Given the description of an element on the screen output the (x, y) to click on. 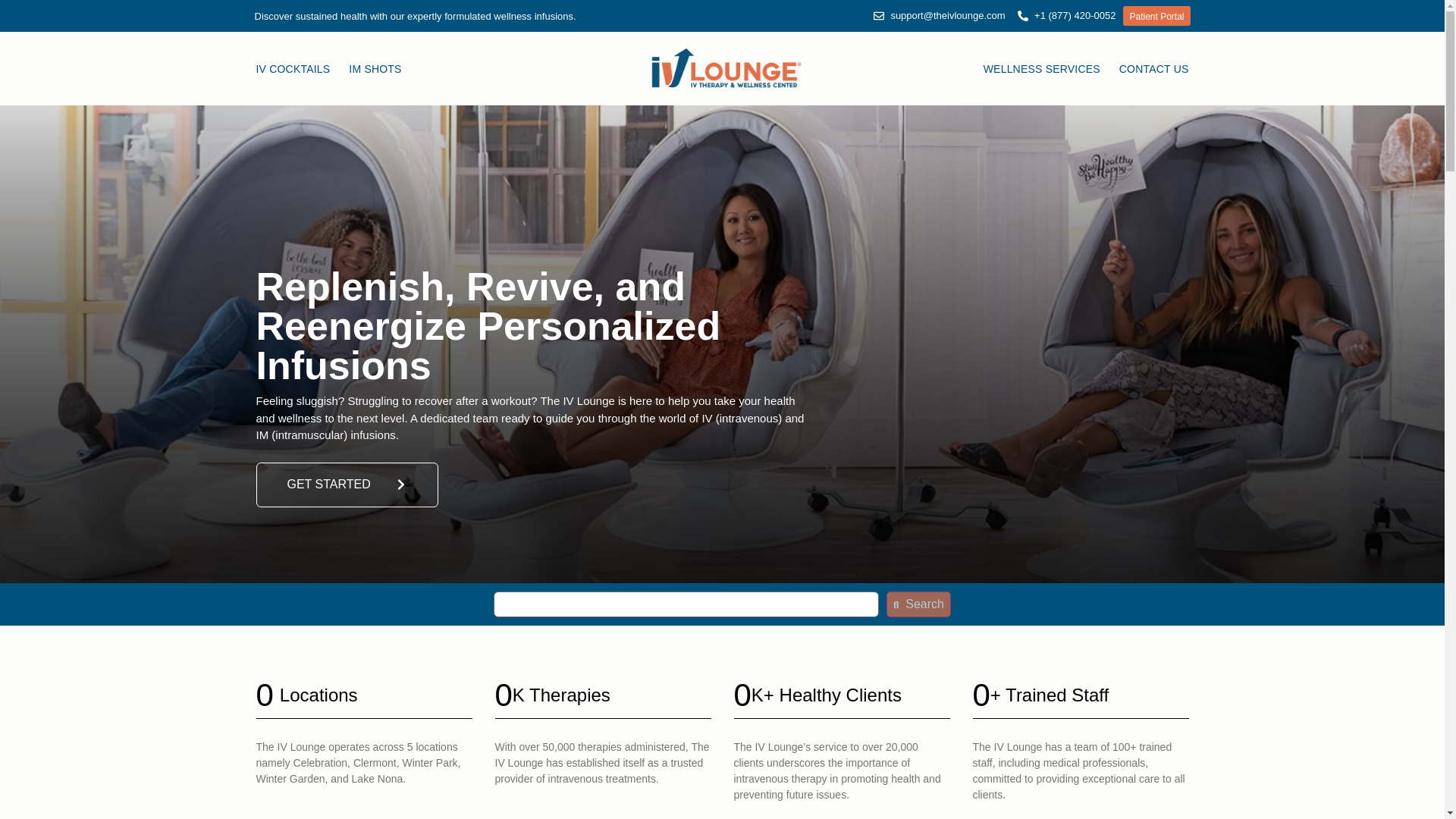
Patient Portal (1155, 15)
IV COCKTAILS (293, 68)
IM SHOTS (375, 68)
